Given the description of an element on the screen output the (x, y) to click on. 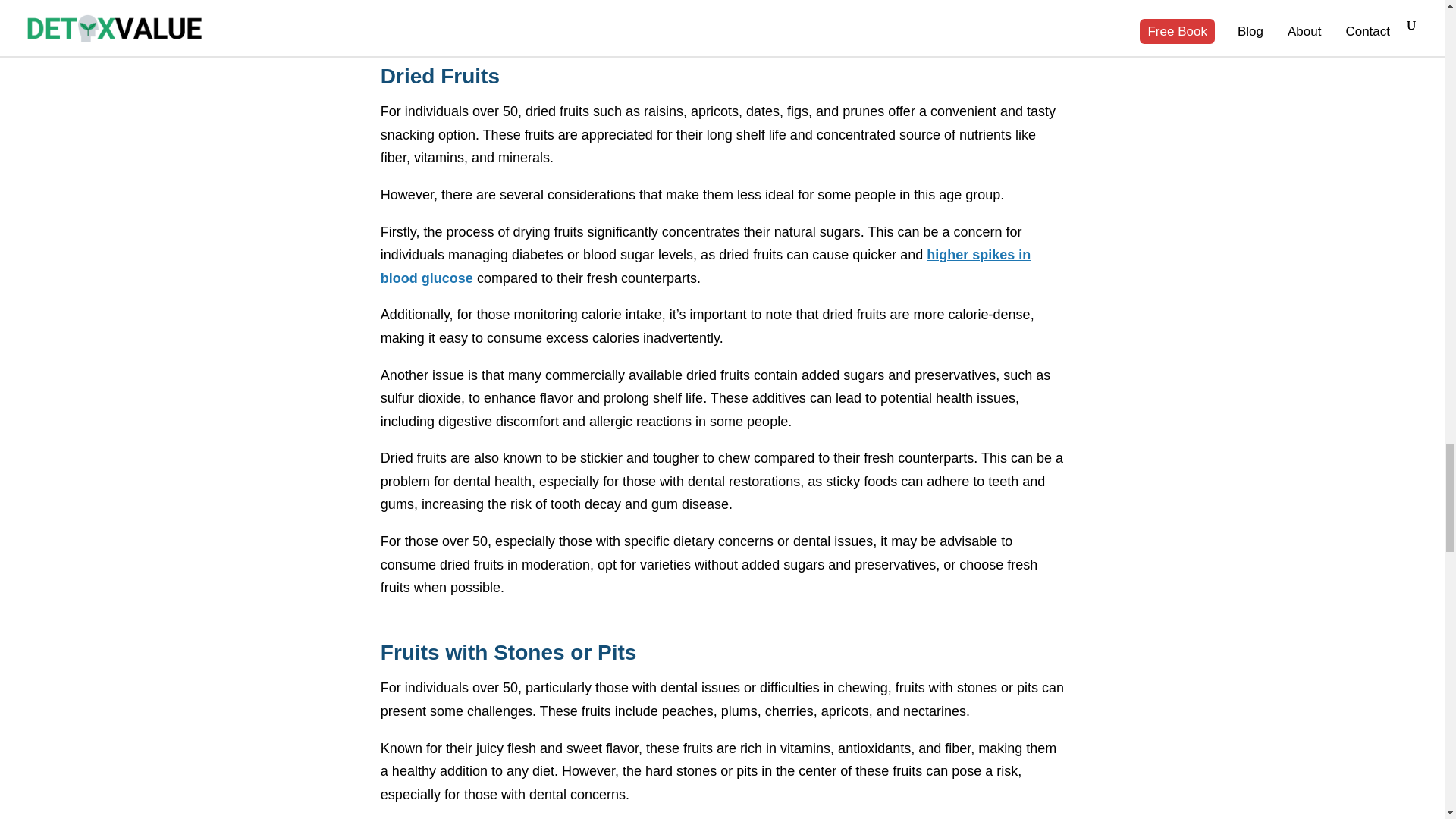
higher spikes in blood glucose (705, 266)
